Given the description of an element on the screen output the (x, y) to click on. 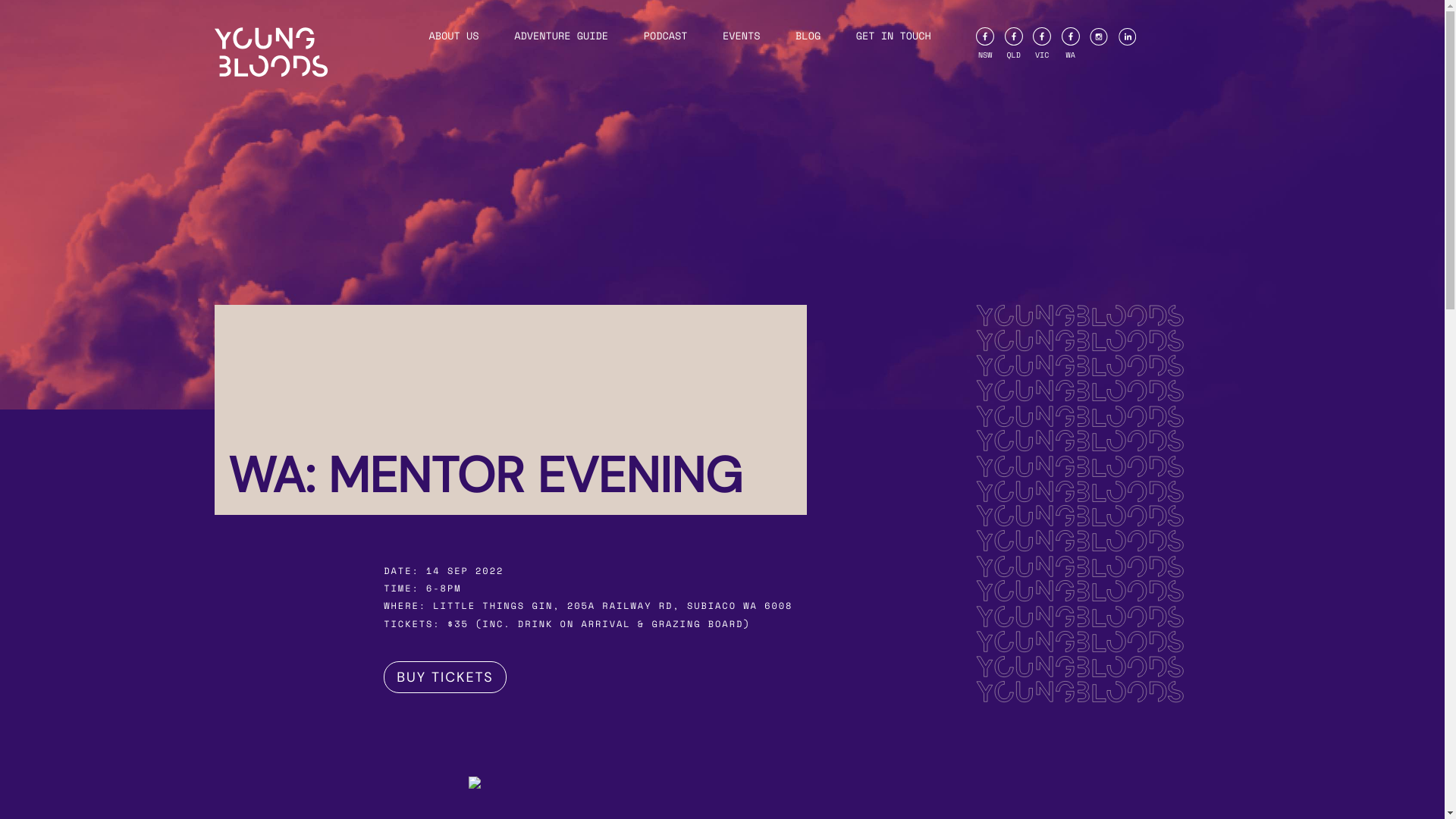
PODCAST Element type: text (665, 35)
QLD Element type: text (1013, 44)
EVENTS Element type: text (741, 35)
GET IN TOUCH Element type: text (893, 35)
BLOG Element type: text (807, 35)
ADVENTURE GUIDE Element type: text (561, 35)
NSW Element type: text (984, 44)
ABOUT US Element type: text (454, 35)
BUY TICKETS Element type: text (444, 677)
VIC Element type: text (1041, 44)
WA Element type: text (1070, 44)
